Given the description of an element on the screen output the (x, y) to click on. 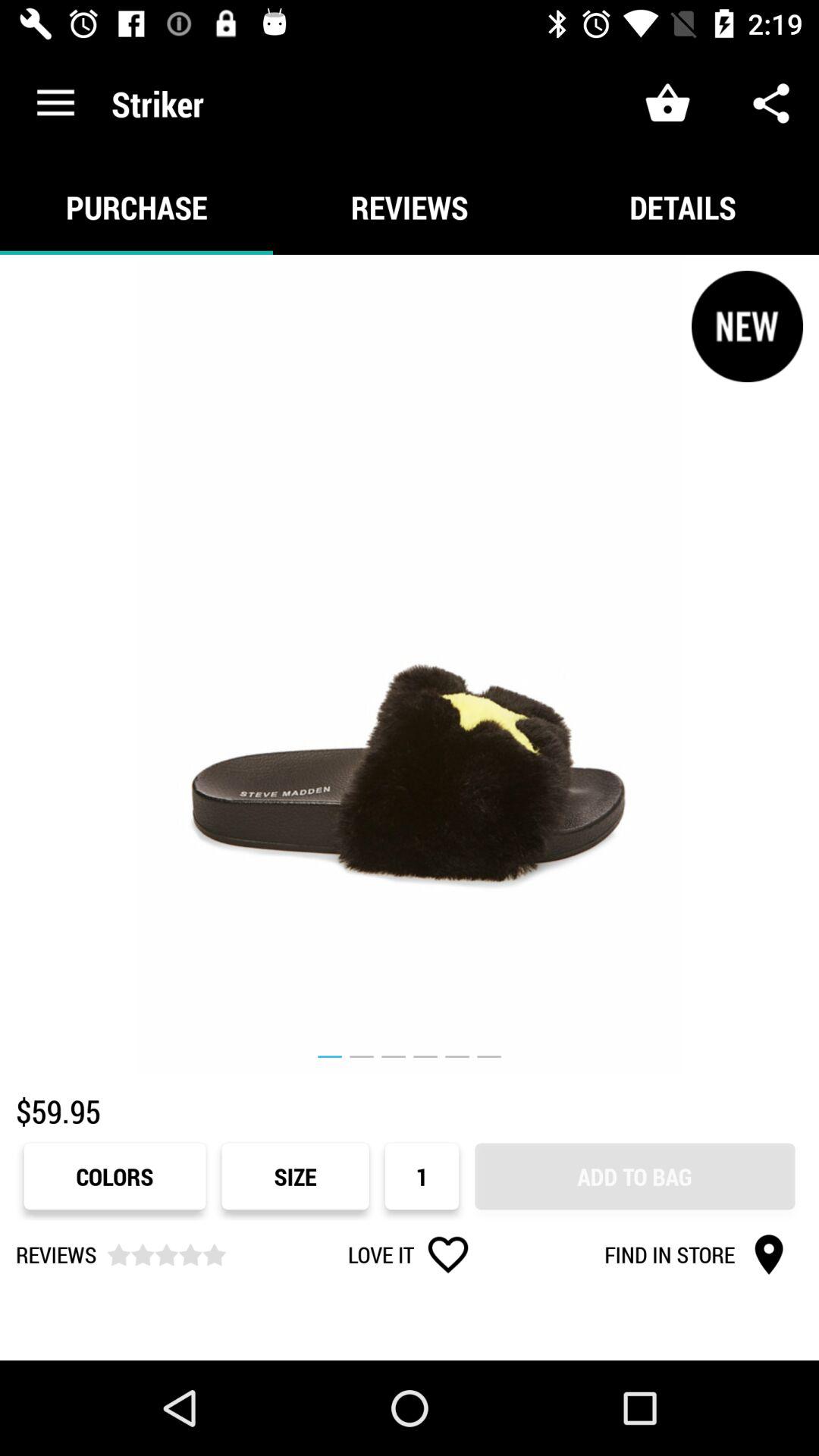
turn on item to the left of the striker (55, 103)
